Given the description of an element on the screen output the (x, y) to click on. 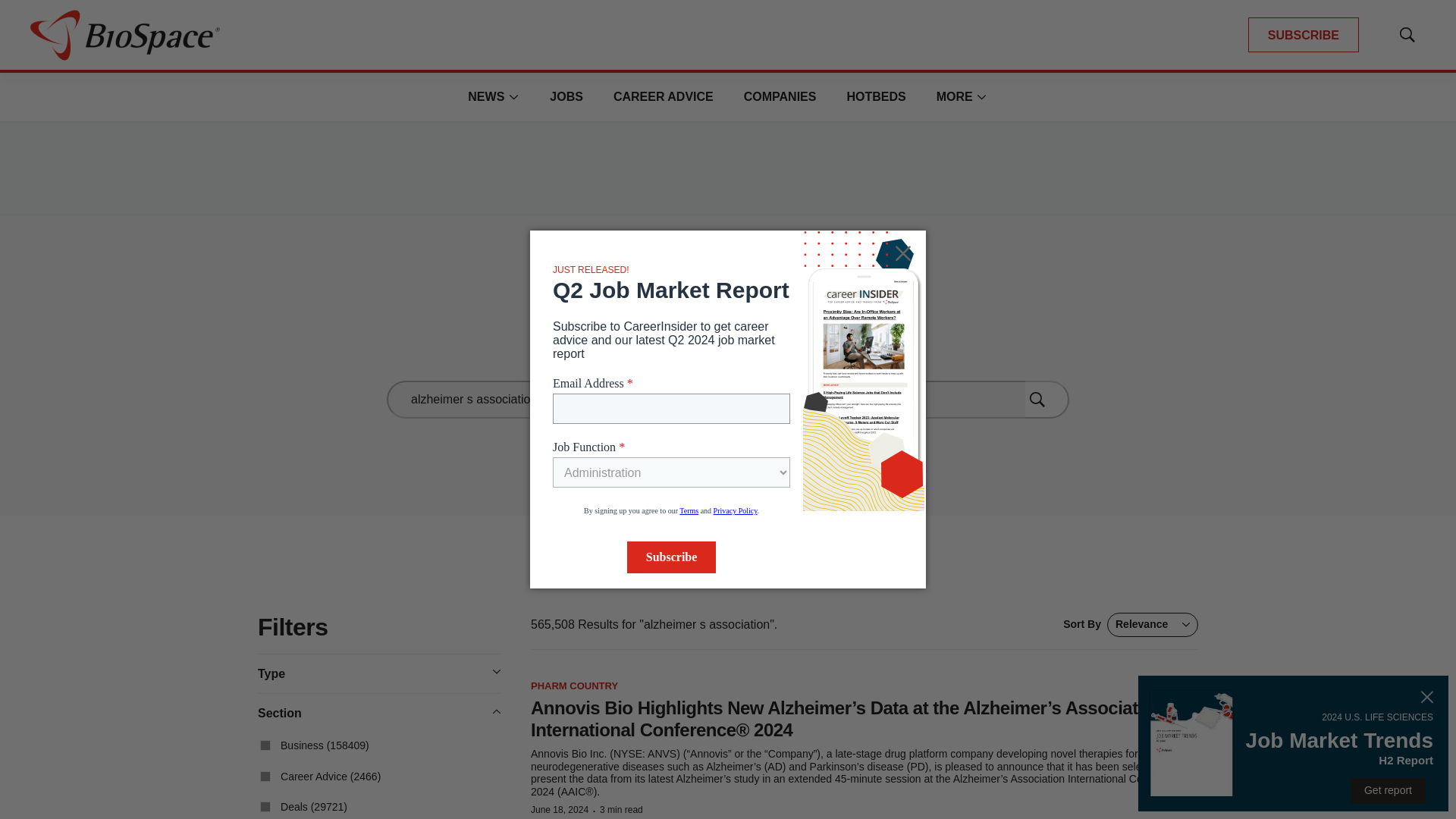
3rd party ad content (727, 168)
alzheimer s association (706, 399)
Popup CTA (1293, 743)
0000018f-a6fb-d495-abcf-a6ff61a60001 (265, 806)
NEWS (485, 96)
SUBSCRIBE (1302, 34)
Show Search (1407, 34)
0000018f-a6fb-d495-abcf-a6ff65490001 (265, 745)
0000018f-a6fb-d495-abcf-a6ffb5400001 (265, 776)
